Given the description of an element on the screen output the (x, y) to click on. 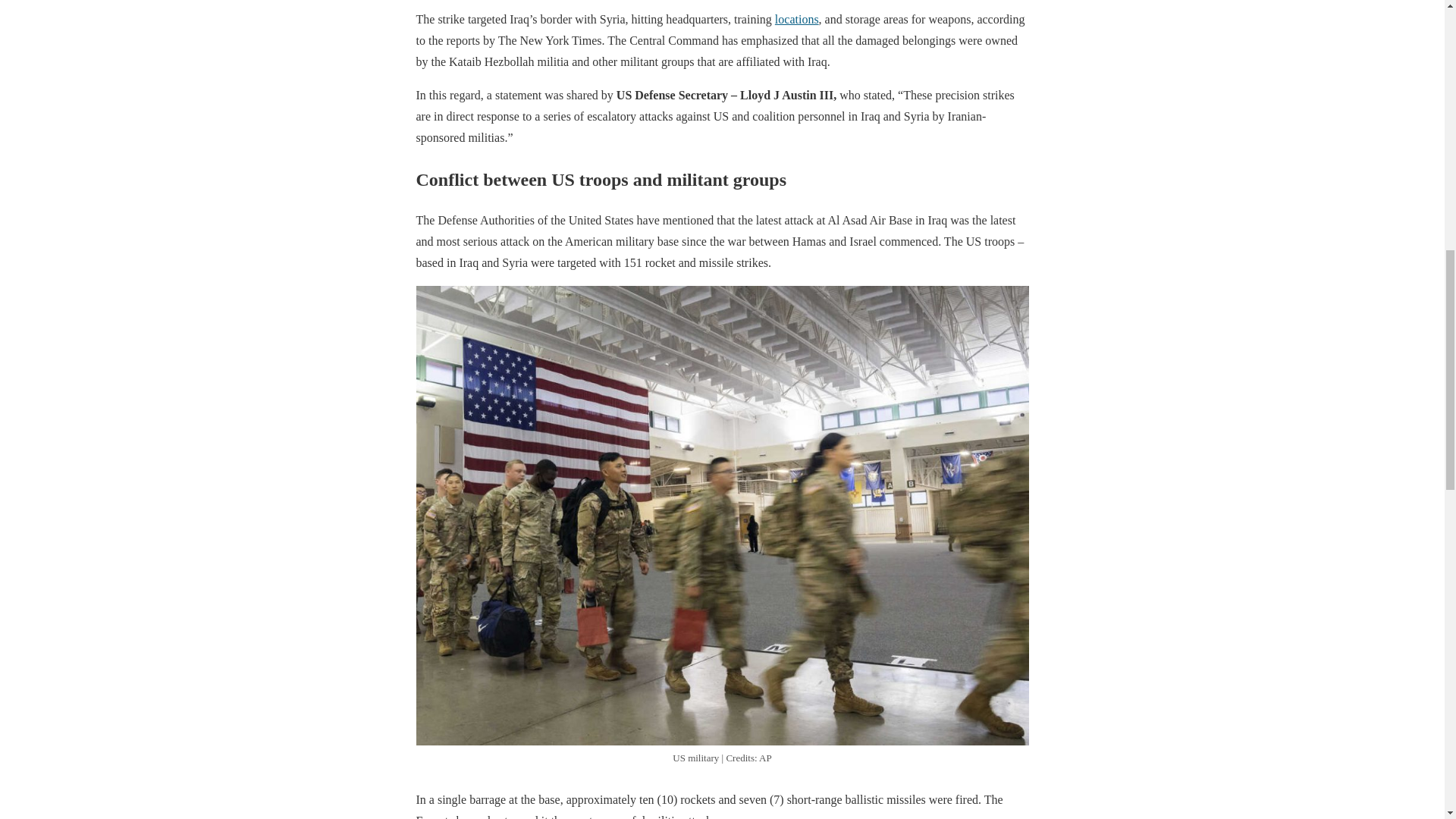
locations (796, 19)
